Given the description of an element on the screen output the (x, y) to click on. 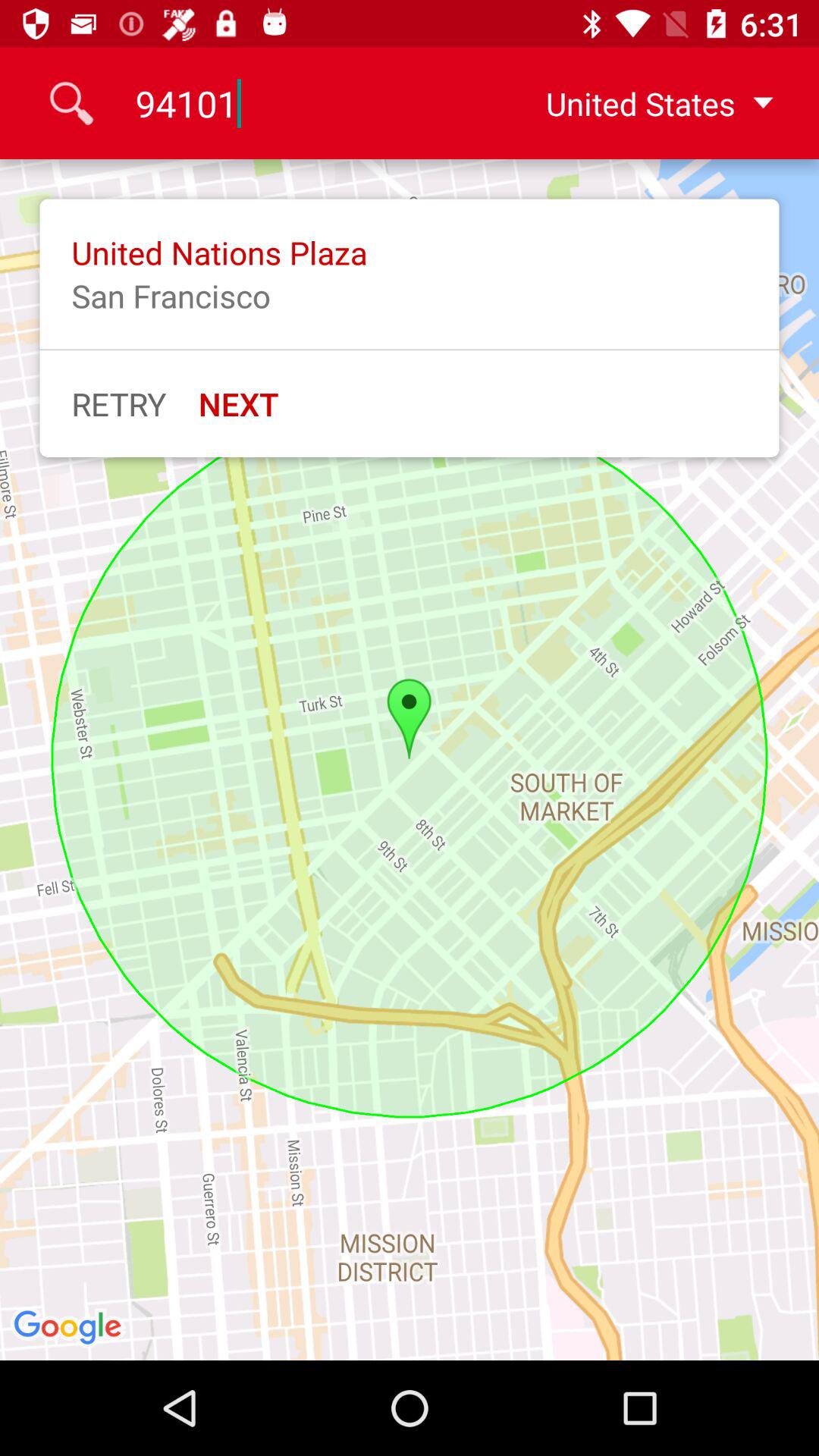
select icon to the right of 94101 (647, 103)
